Given the description of an element on the screen output the (x, y) to click on. 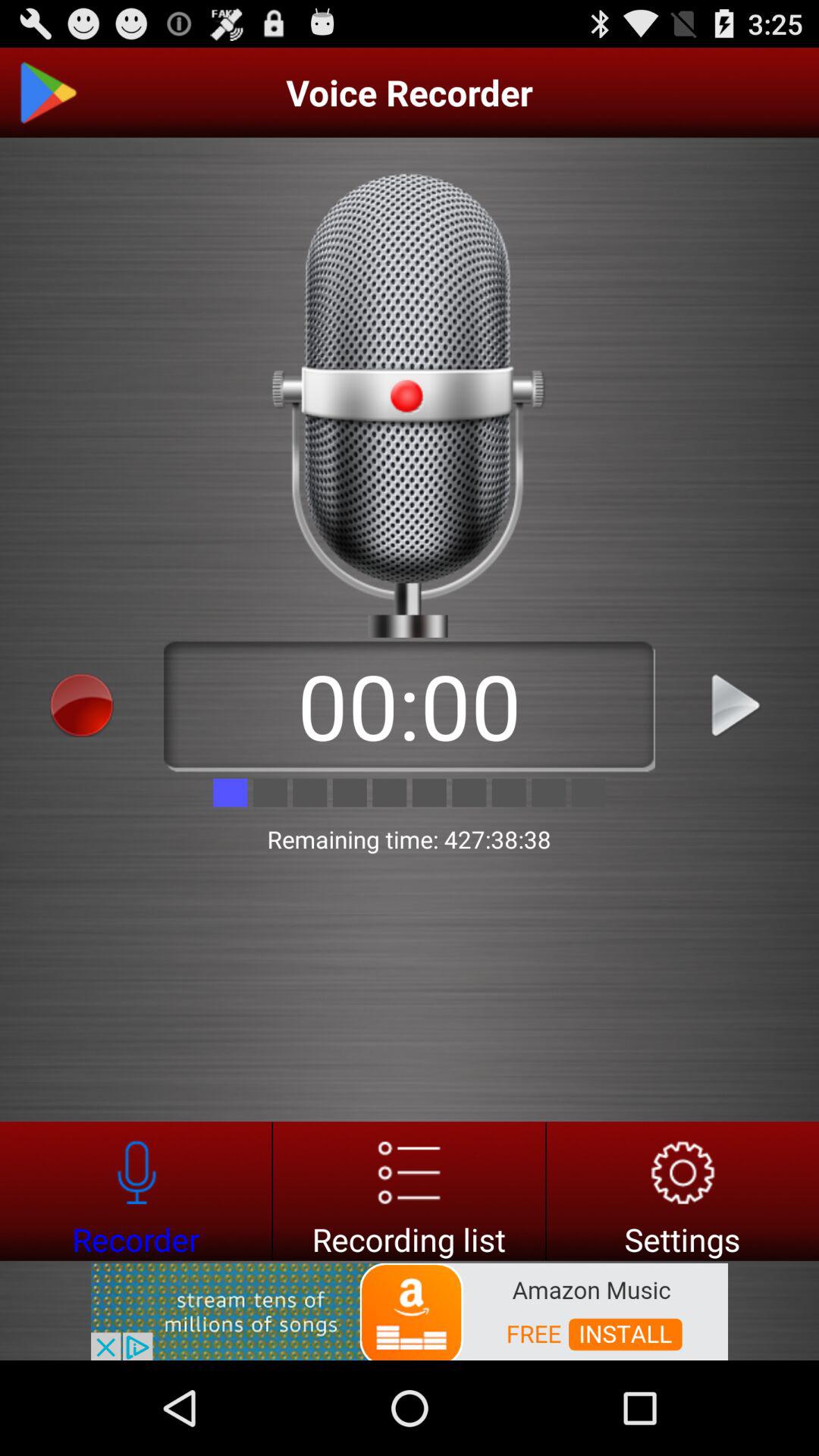
start recording (81, 705)
